Given the description of an element on the screen output the (x, y) to click on. 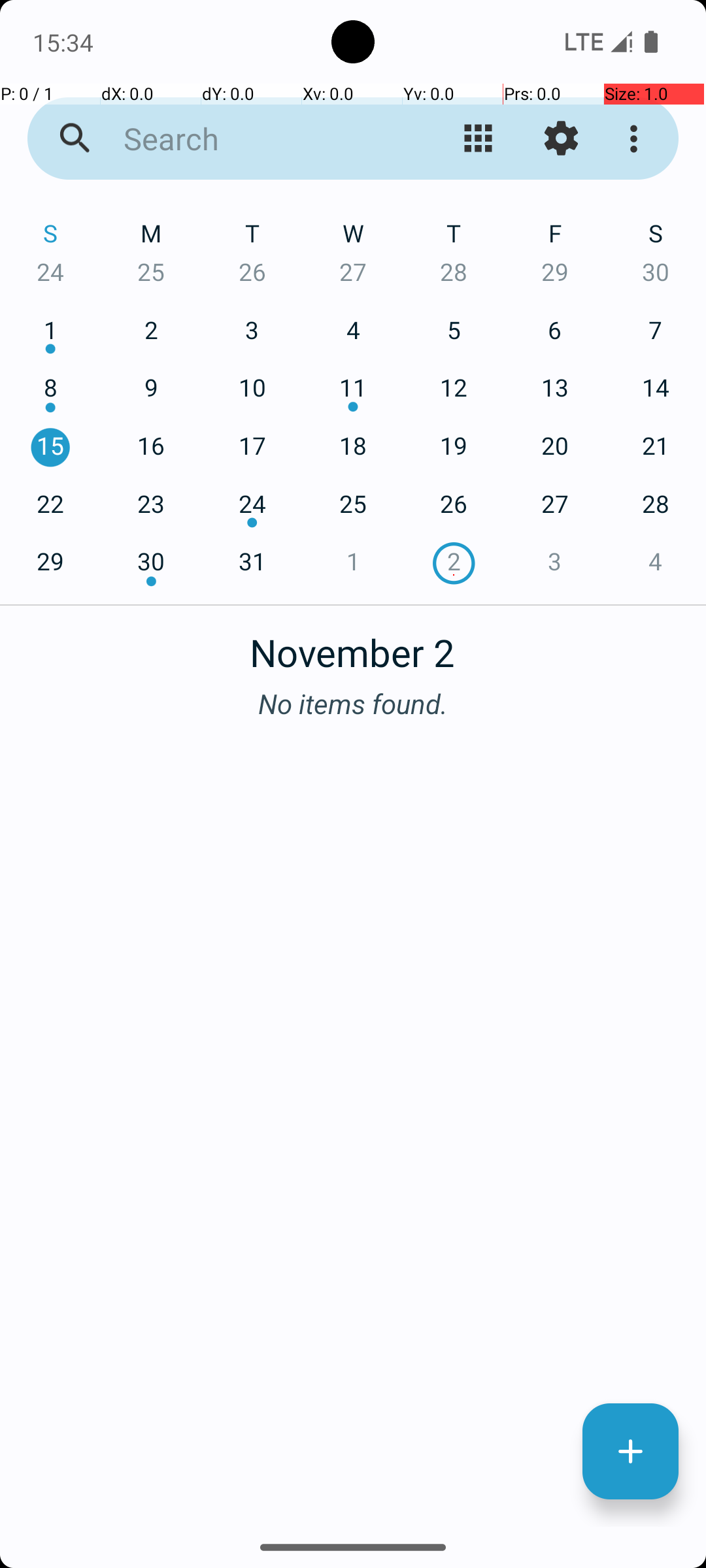
November 2 Element type: android.widget.TextView (352, 644)
